Given the description of an element on the screen output the (x, y) to click on. 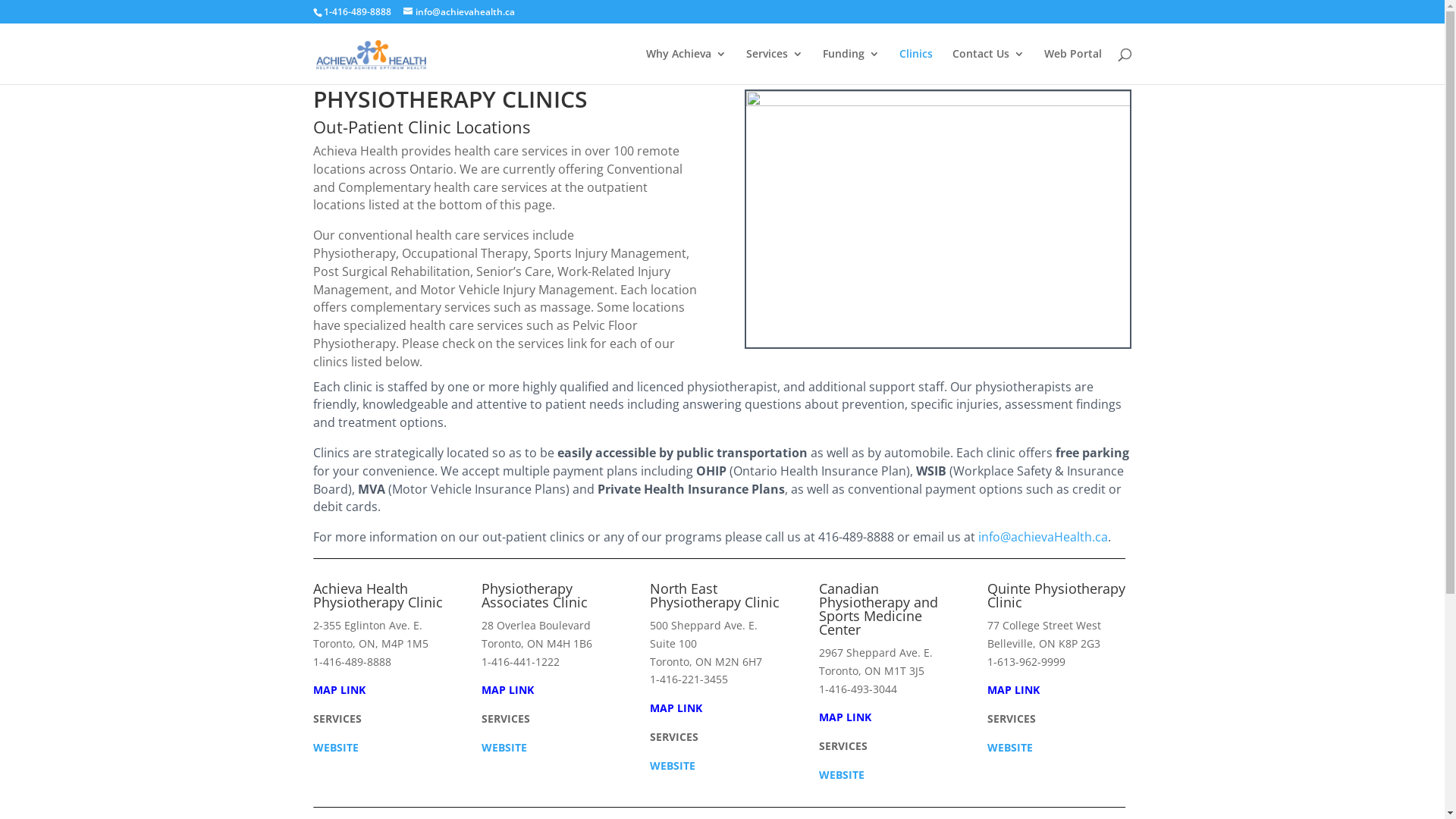
WEBSITE Element type: text (504, 747)
MAP LINK Element type: text (507, 689)
MAP LINK Element type: text (338, 689)
WEBSITE Element type: text (1009, 747)
MAP LINK Element type: text (845, 716)
WEBSITE Element type: text (672, 765)
Contact Us Element type: text (988, 66)
Web Portal Element type: text (1072, 66)
MAP LINK Element type: text (675, 707)
Why Achieva Element type: text (686, 66)
info@achievahealth.ca Element type: text (458, 11)
WEBSITE Element type: text (841, 774)
MAP LINK Element type: text (1013, 689)
Services Element type: text (774, 66)
info@achievaHealth.ca Element type: text (1042, 536)
Clinics Element type: text (915, 66)
WEBSITE Element type: text (334, 747)
Funding Element type: text (850, 66)
